Given the description of an element on the screen output the (x, y) to click on. 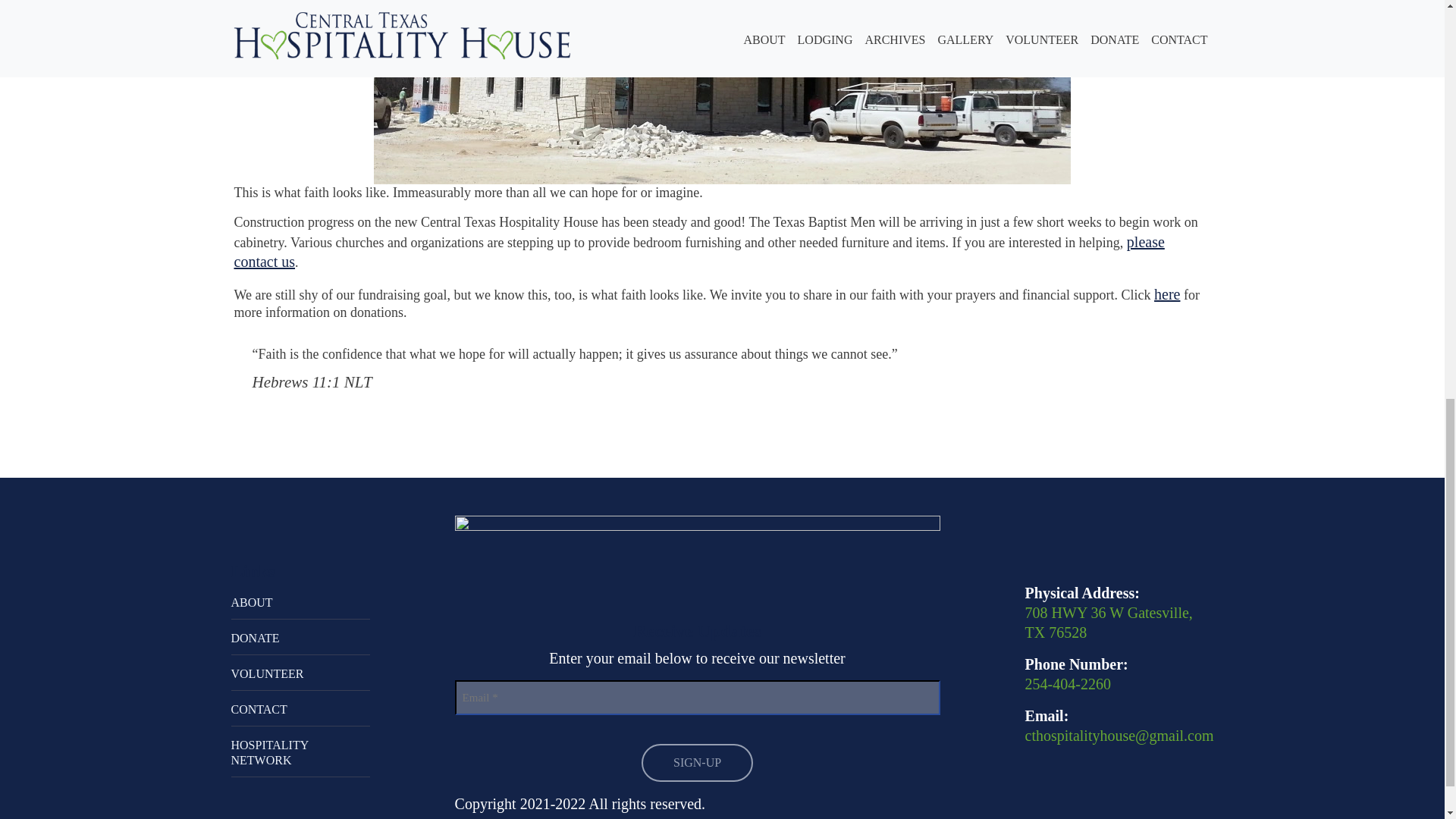
here (1166, 293)
ABOUT (299, 603)
VOLUNTEER (299, 674)
Sign-Up (697, 762)
Sign-Up (697, 762)
CONTACT (299, 709)
DONATE (299, 638)
254-404-2260 (1067, 683)
708 HWY 36 W Gatesville, TX 76528 (1108, 622)
HOSPITALITY NETWORK (299, 753)
